Given the description of an element on the screen output the (x, y) to click on. 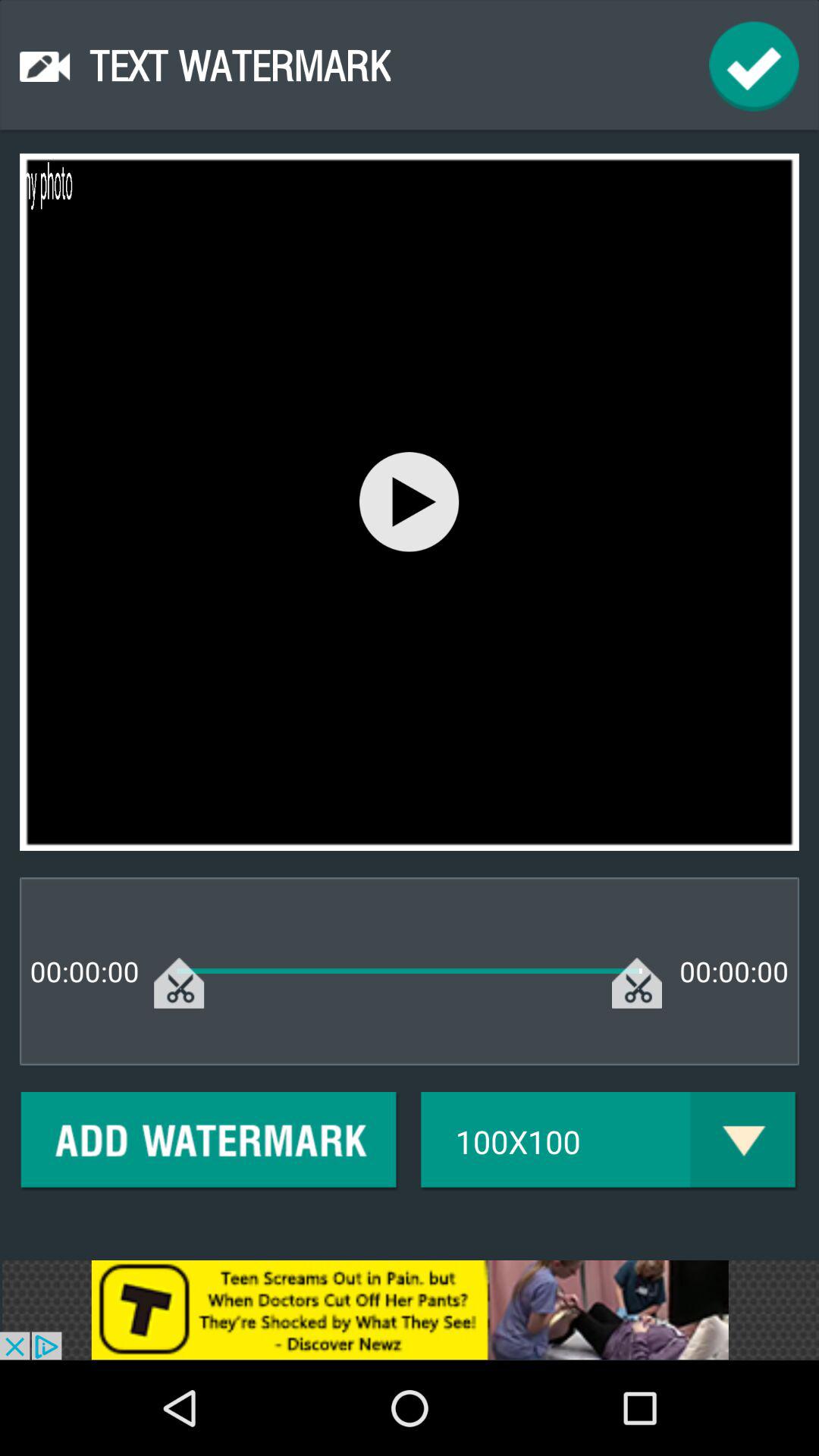
add watermark option (209, 1141)
